Given the description of an element on the screen output the (x, y) to click on. 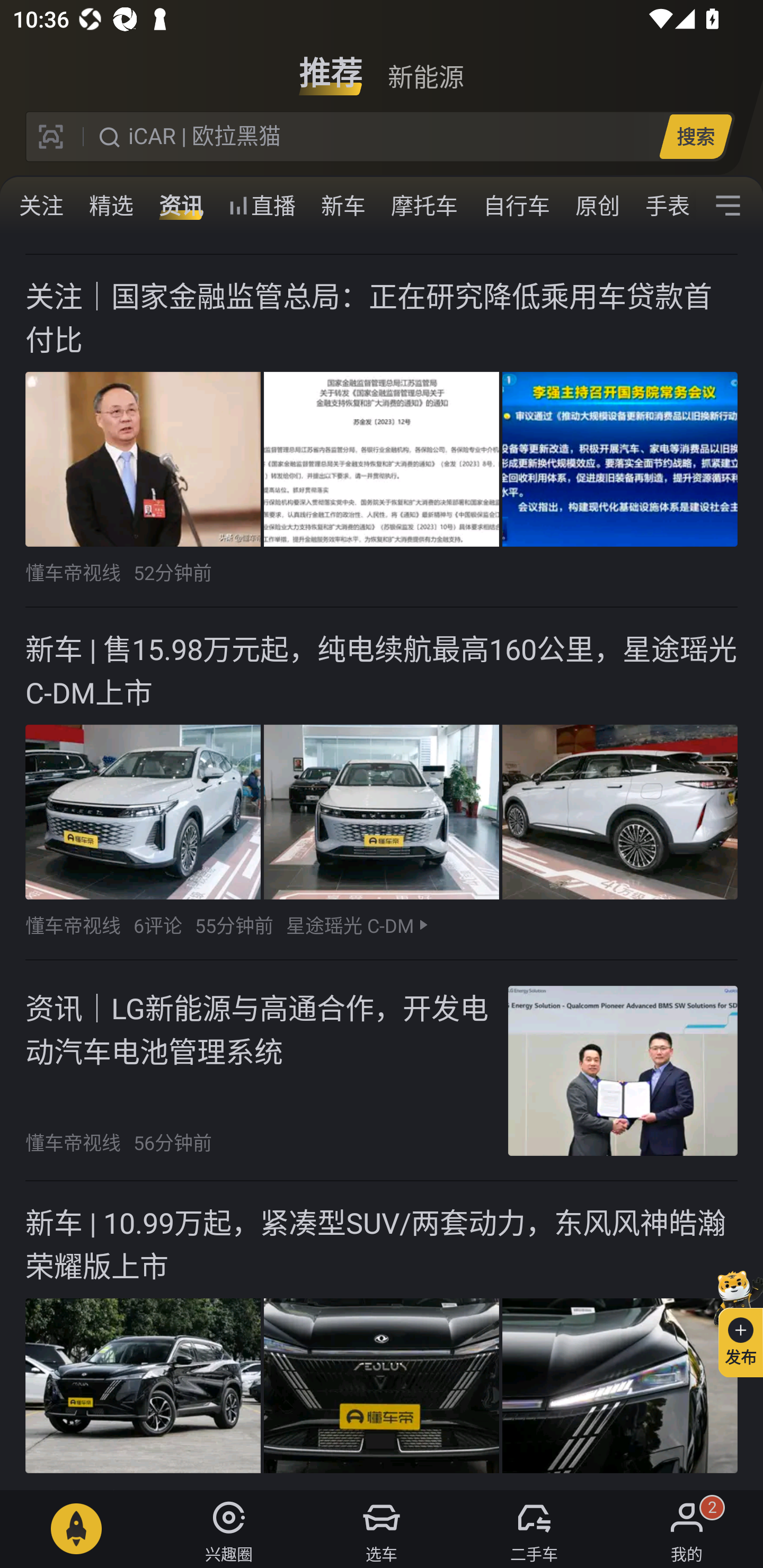
推荐 (330, 65)
新能源 (425, 65)
搜索 (695, 136)
关注 (41, 205)
精选 (111, 205)
资讯 (180, 205)
直播 (261, 205)
新车 (343, 205)
摩托车 (424, 205)
自行车 (516, 205)
原创 (597, 205)
手表 (663, 205)
 (727, 205)
关注｜国家金融监管总局：正在研究降低乘用车贷款首付比 懂车帝视线 52分钟前 (381, 431)
星途瑶光 C-DM (349, 924)
资讯｜LG新能源与高通合作，开发电动汽车电池管理系统 懂车帝视线 56分钟前 (381, 1069)
新车 | 10.99万起，紧凑型SUV/两套动力，东风风神皓瀚荣耀版上市 懂车帝视线 1小时前 皓瀚 (381, 1334)
发布 (732, 1321)
 兴趣圈 (228, 1528)
 选车 (381, 1528)
 二手车 (533, 1528)
 我的 (686, 1528)
